Given the description of an element on the screen output the (x, y) to click on. 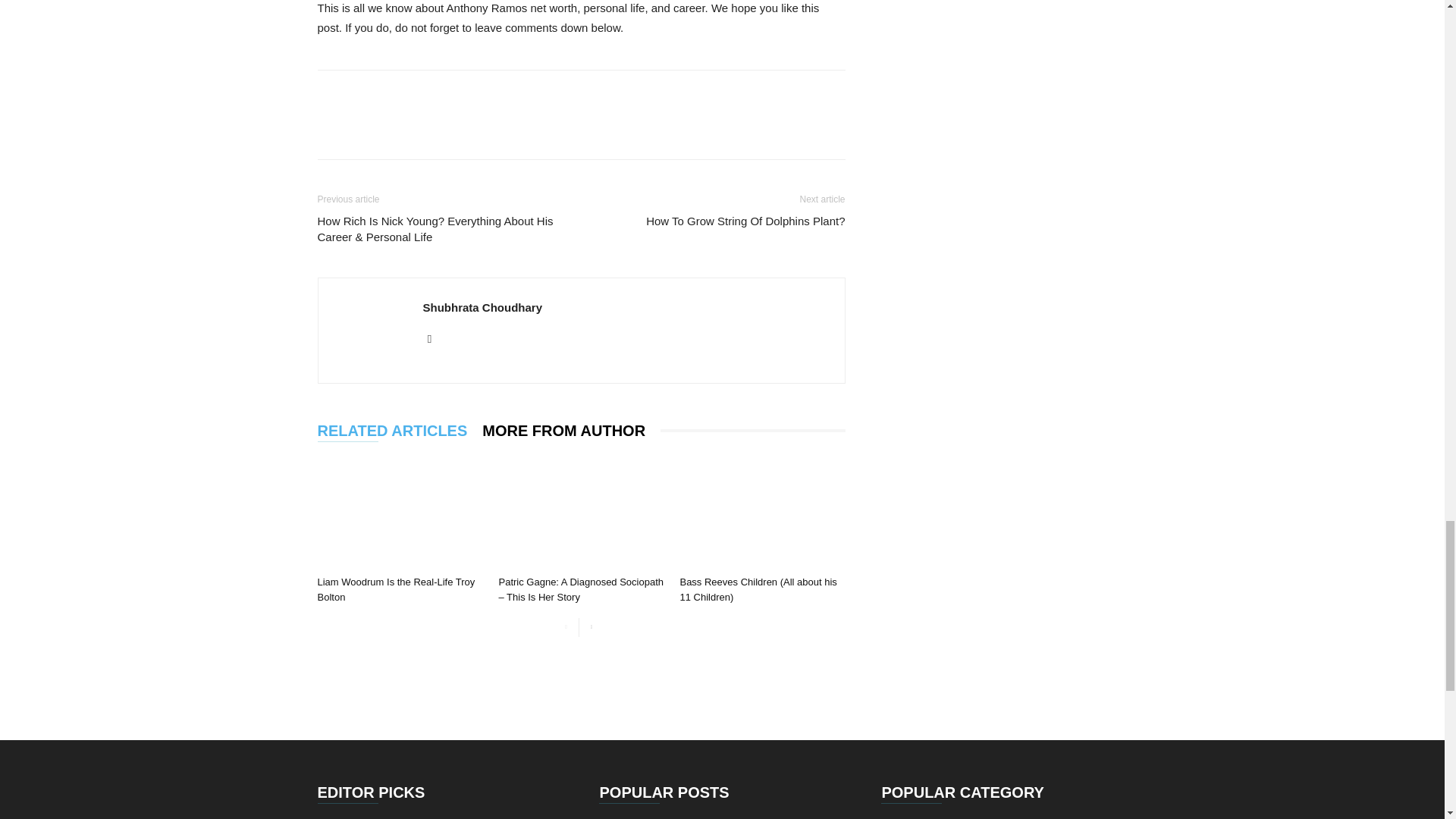
bottomFacebookLike (430, 94)
